Given the description of an element on the screen output the (x, y) to click on. 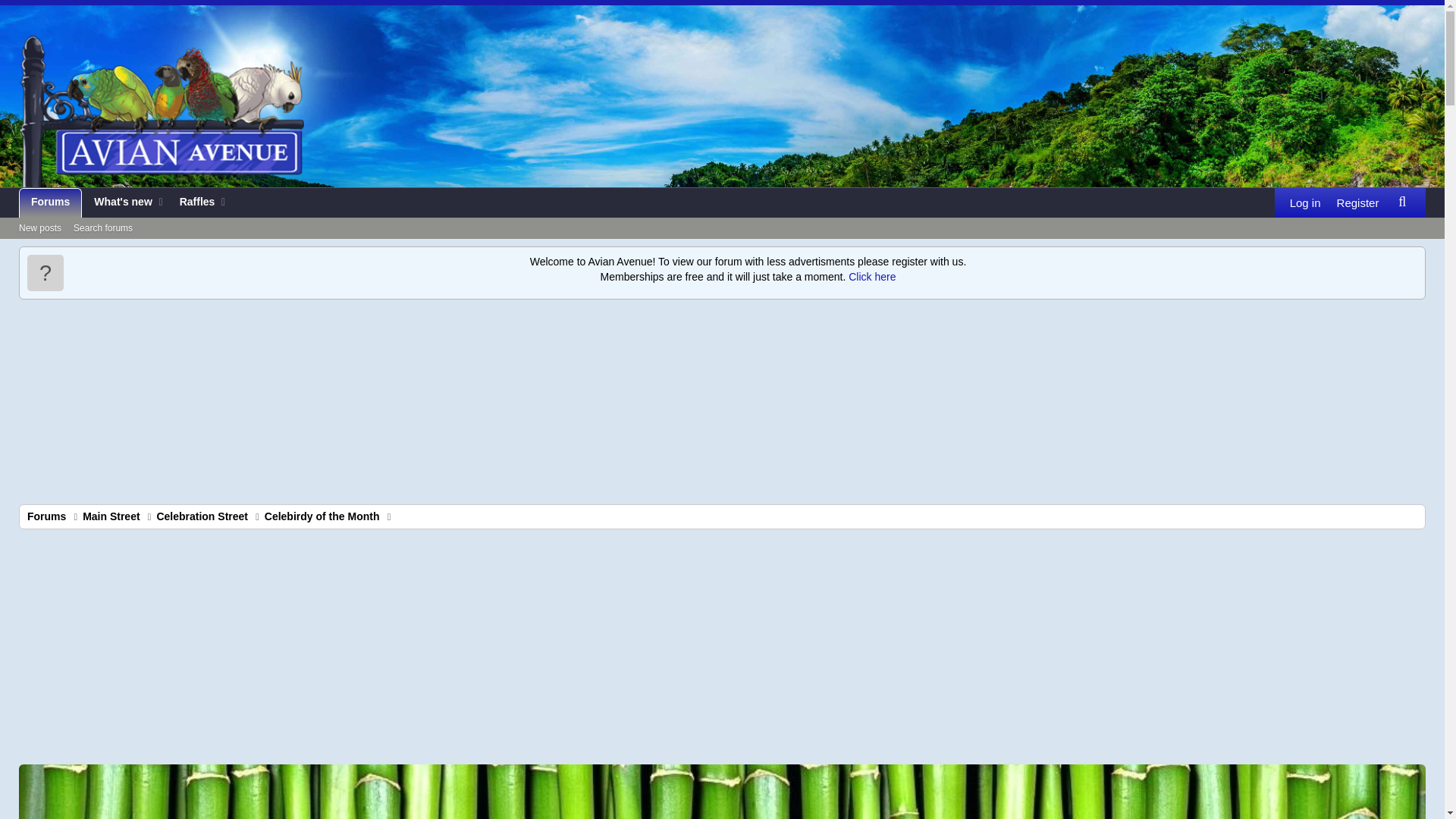
Forums (46, 516)
Celebration Street (201, 516)
What's new (118, 203)
Search forums (102, 228)
Log in (1304, 203)
Forums (50, 203)
Register (124, 219)
Raffles (1357, 203)
Click here (192, 203)
Celebirdy of the Month (870, 276)
Search (322, 516)
Main Street (1402, 202)
New posts (110, 516)
